Given the description of an element on the screen output the (x, y) to click on. 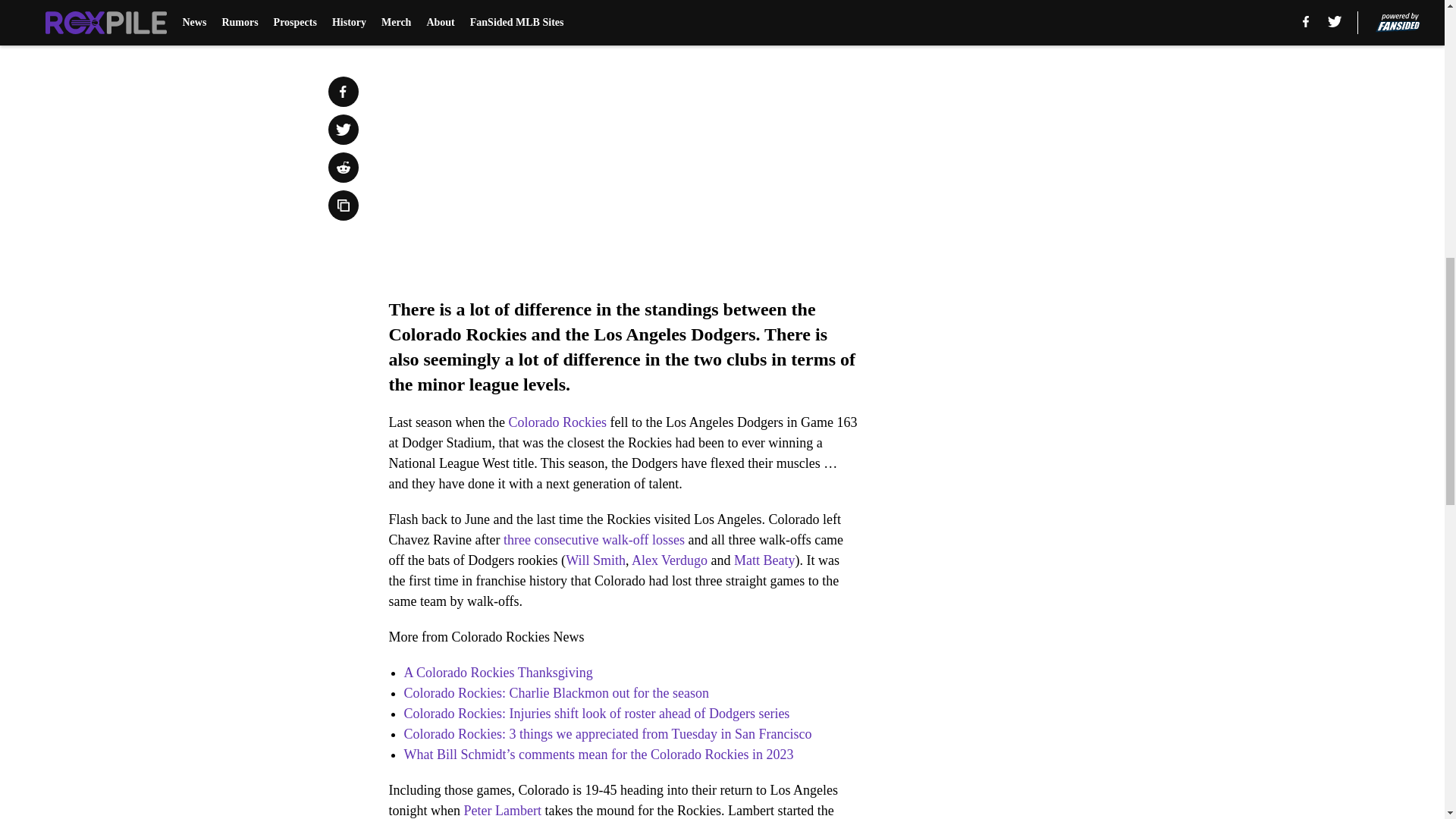
Peter Lambert (502, 810)
three consecutive walk-off losses (593, 539)
Colorado Rockies: Charlie Blackmon out for the season (555, 693)
Colorado Rockies (556, 421)
Matt Beaty (763, 560)
Will Smith (596, 560)
A Colorado Rockies Thanksgiving (497, 672)
Alex Verdugo (669, 560)
